Given the description of an element on the screen output the (x, y) to click on. 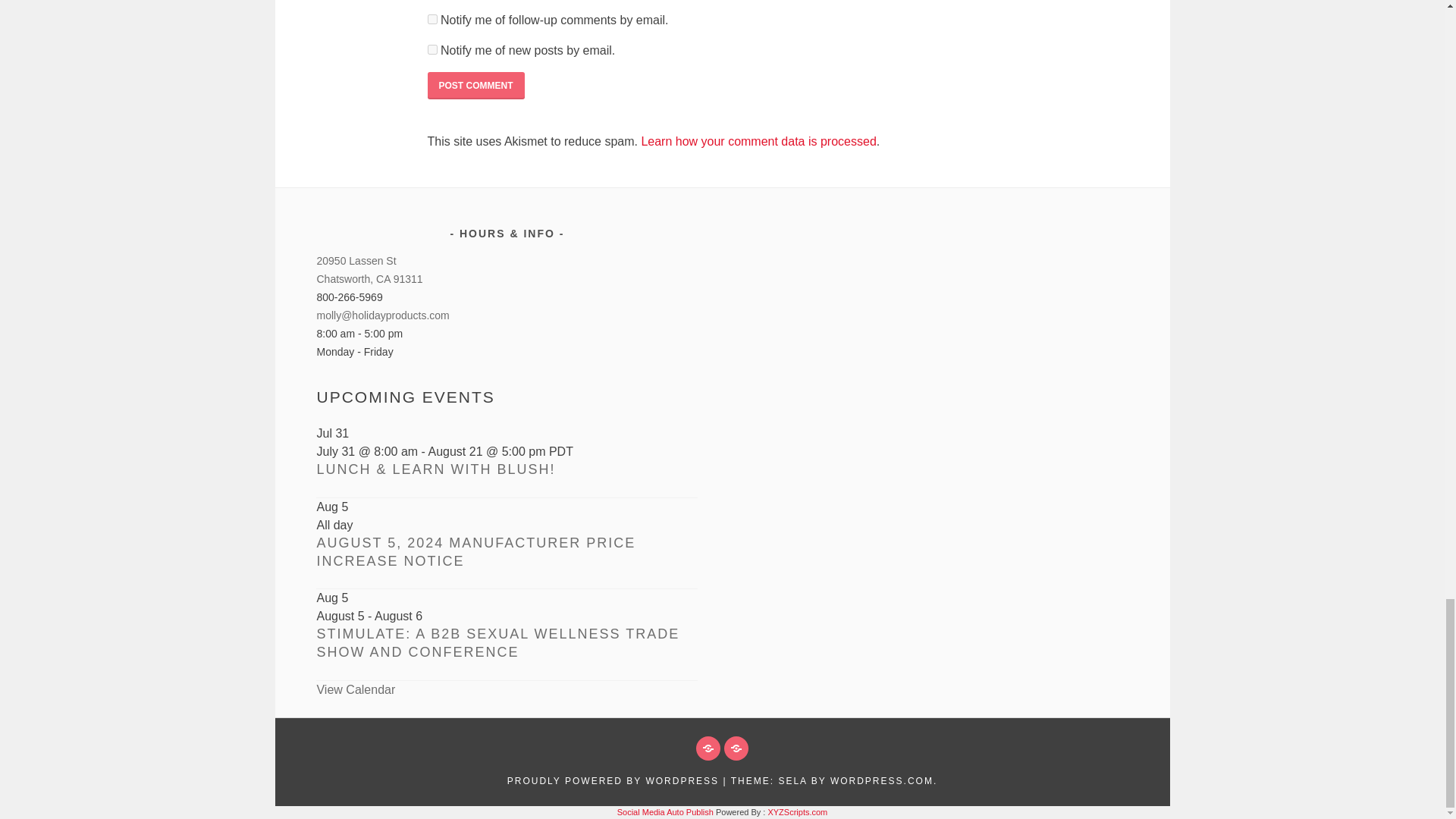
Post Comment (476, 85)
Learn how your comment data is processed (758, 141)
August 5, 2024 Manufacturer Price Increase Notice (474, 551)
Social Media Auto Publish (665, 811)
subscribe (433, 19)
A Semantic Personal Publishing Platform (612, 780)
STIMULATE: A B2B Sexual Wellness Trade Show and Conference (497, 643)
subscribe (433, 49)
View more events. (354, 689)
Post Comment (476, 85)
